Given the description of an element on the screen output the (x, y) to click on. 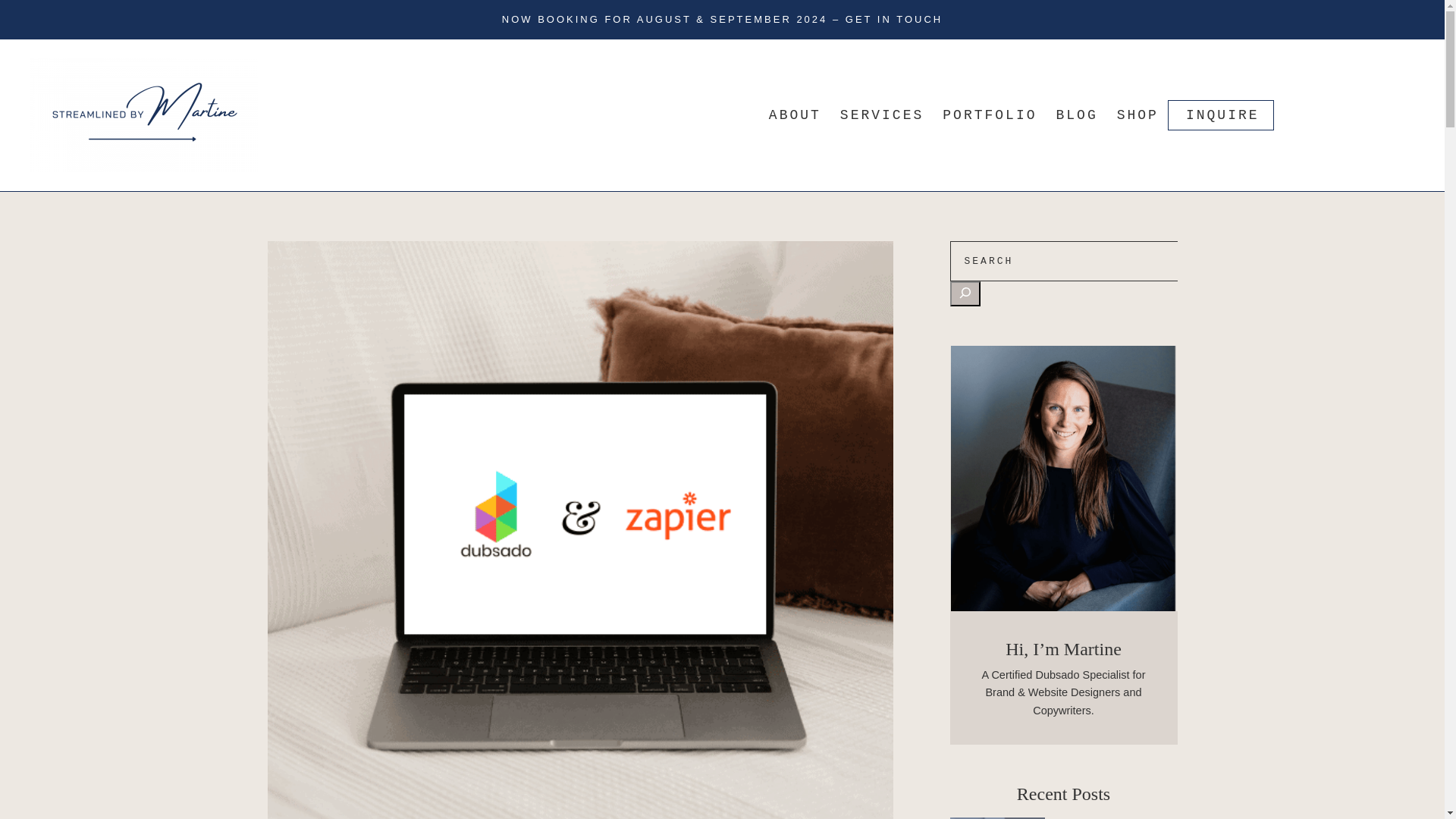
ABOUT (794, 114)
BLOG (1076, 114)
GET IN TOUCH (893, 19)
What Video Calling Platform Syncs Best With Dubsado? (1115, 818)
SHOP (1137, 114)
PORTFOLIO (989, 114)
SERVICES (881, 114)
INQUIRE (1222, 115)
